Given the description of an element on the screen output the (x, y) to click on. 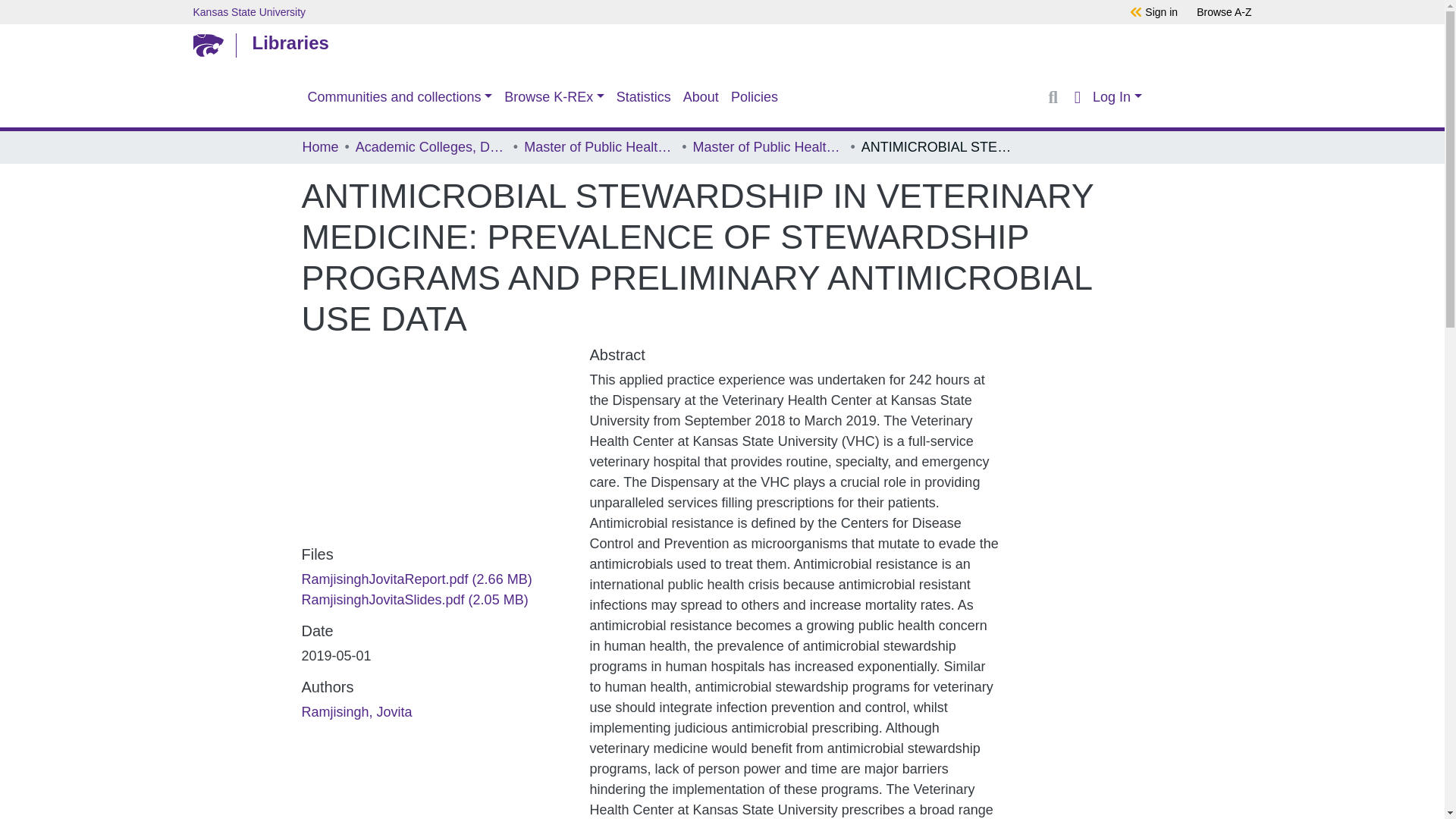
Libraries (718, 43)
Policies (754, 97)
Communities and collections (400, 97)
Home (319, 147)
Kansas State University (625, 11)
Language switch (1077, 96)
Master of Public Health Student Reports and Theses (768, 147)
Search (1053, 96)
Policies (754, 97)
Statistics (643, 97)
Academic Colleges, Departments, and Programs (430, 147)
Browse K-REx (553, 97)
About (701, 97)
Master of Public Health Program (599, 147)
Log In (1116, 96)
